Given the description of an element on the screen output the (x, y) to click on. 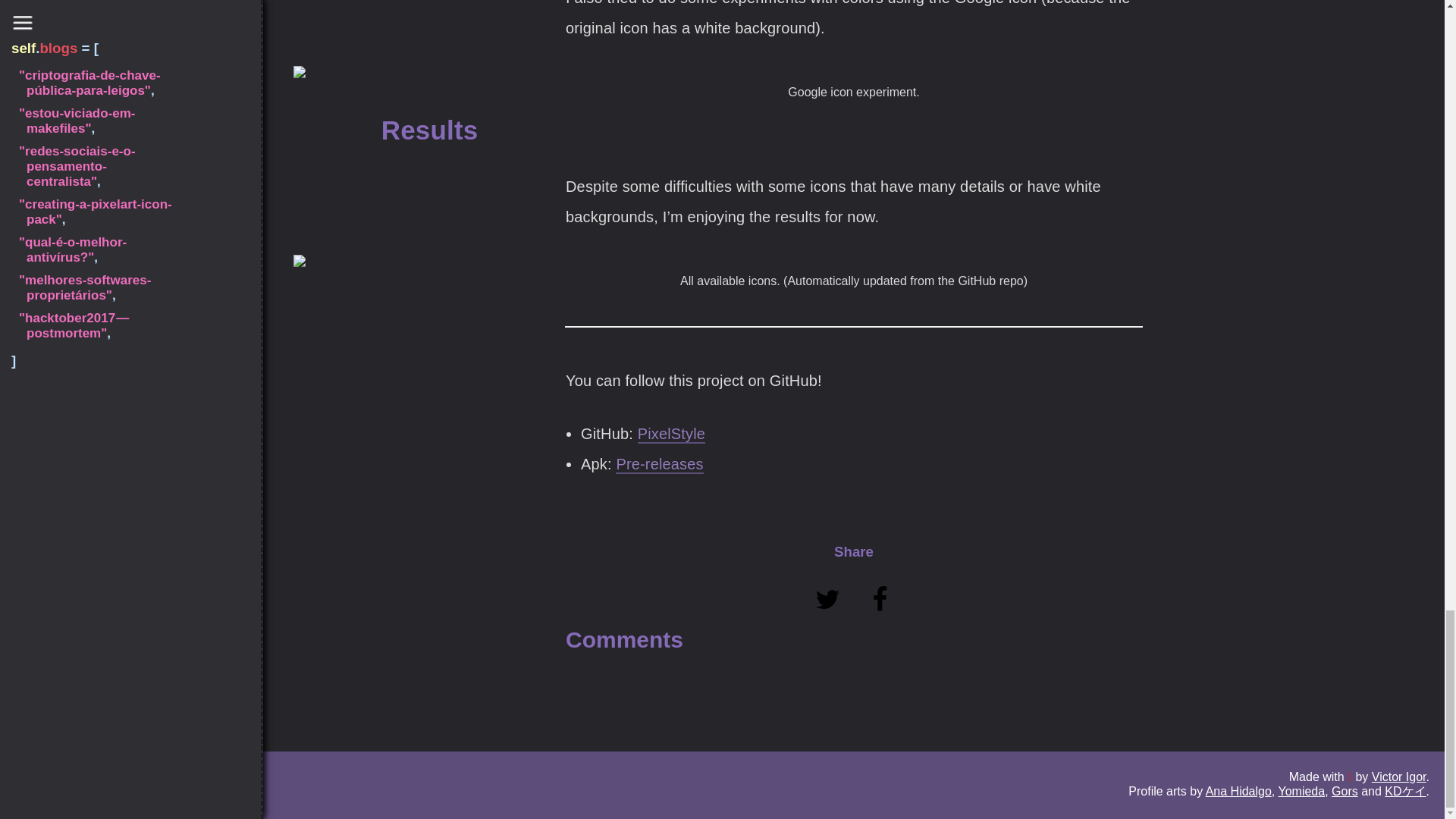
Gors (1345, 789)
Yomieda (1301, 789)
Pre-releases (659, 464)
Ana Hidalgo (1238, 789)
PixelStyle (670, 434)
Victor Igor (1398, 776)
